Given the description of an element on the screen output the (x, y) to click on. 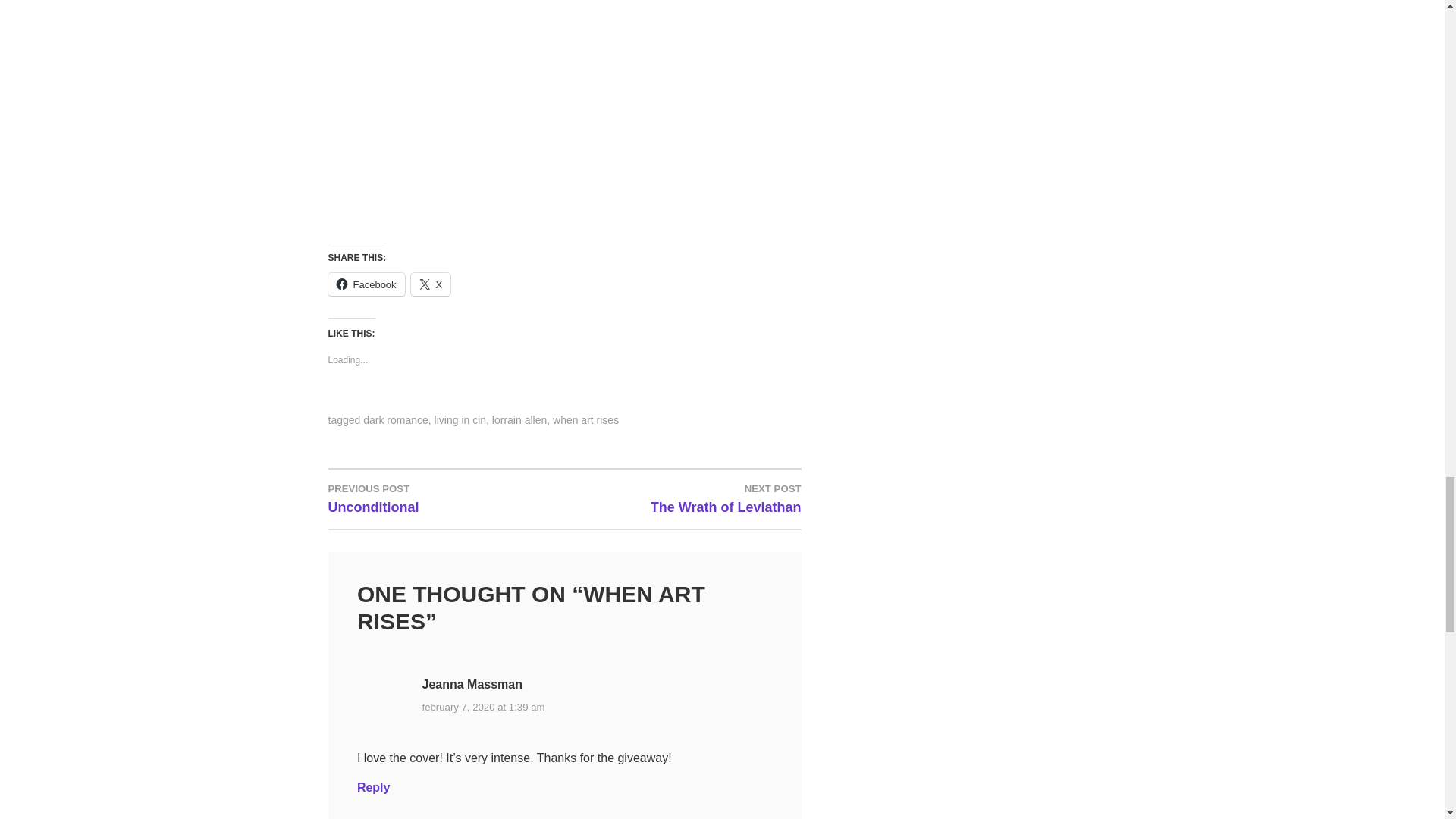
Click to share on Facebook (365, 283)
Click to share on X (430, 283)
